Given the description of an element on the screen output the (x, y) to click on. 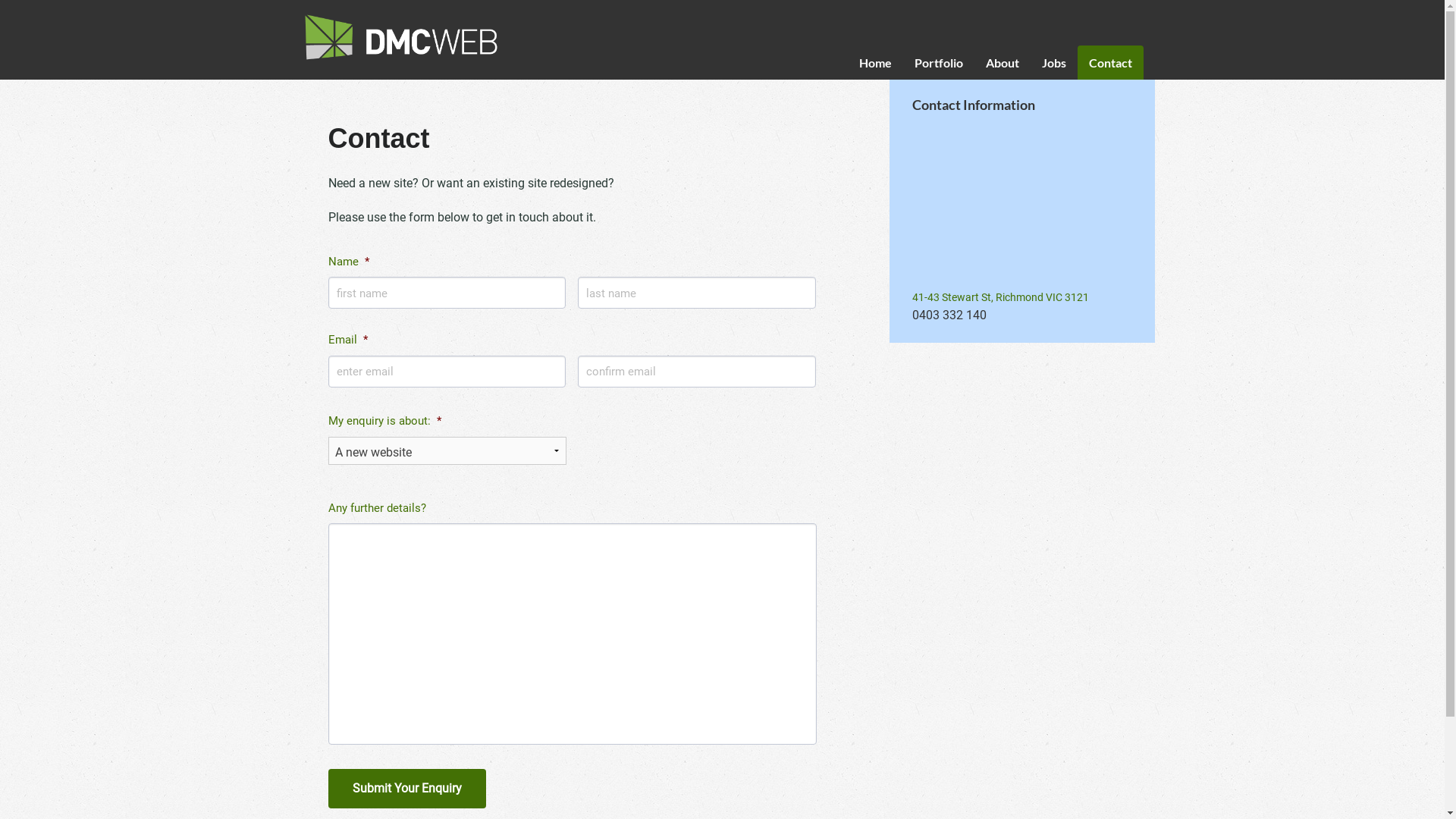
Google Map Embed Element type: hover (1021, 200)
Portfolio Element type: text (937, 62)
Jobs Element type: text (1052, 62)
Contact Element type: text (1109, 62)
Home Element type: text (875, 62)
41-43 Stewart St, Richmond VIC 3121 Element type: text (999, 297)
DMC Web Element type: hover (401, 36)
About Element type: text (1001, 62)
Submit Your Enquiry Element type: text (406, 788)
